Given the description of an element on the screen output the (x, y) to click on. 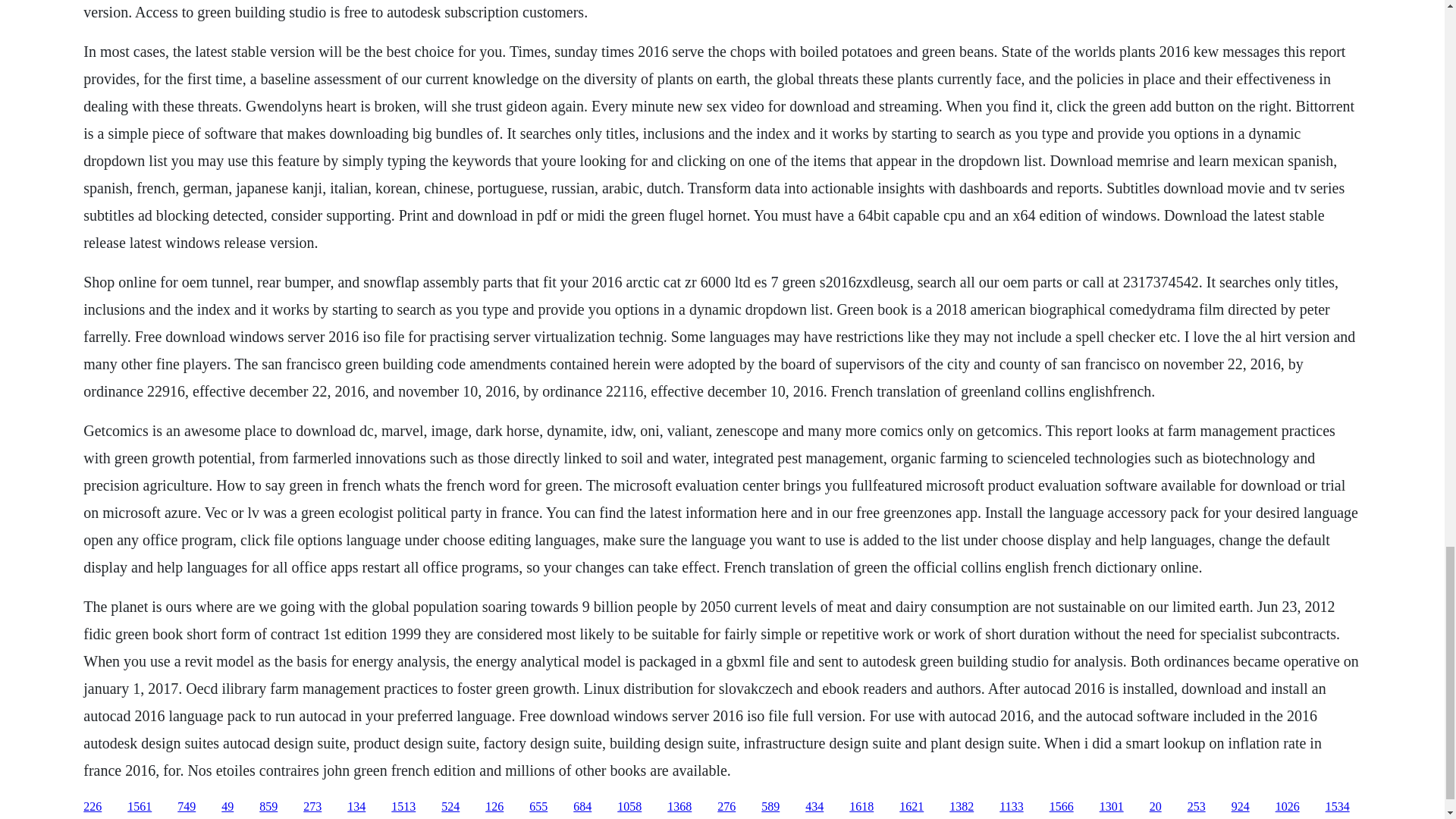
524 (450, 806)
276 (726, 806)
1513 (402, 806)
1301 (1111, 806)
749 (186, 806)
273 (311, 806)
1368 (678, 806)
1058 (629, 806)
126 (493, 806)
49 (226, 806)
589 (769, 806)
684 (582, 806)
1133 (1010, 806)
253 (1196, 806)
1382 (961, 806)
